Given the description of an element on the screen output the (x, y) to click on. 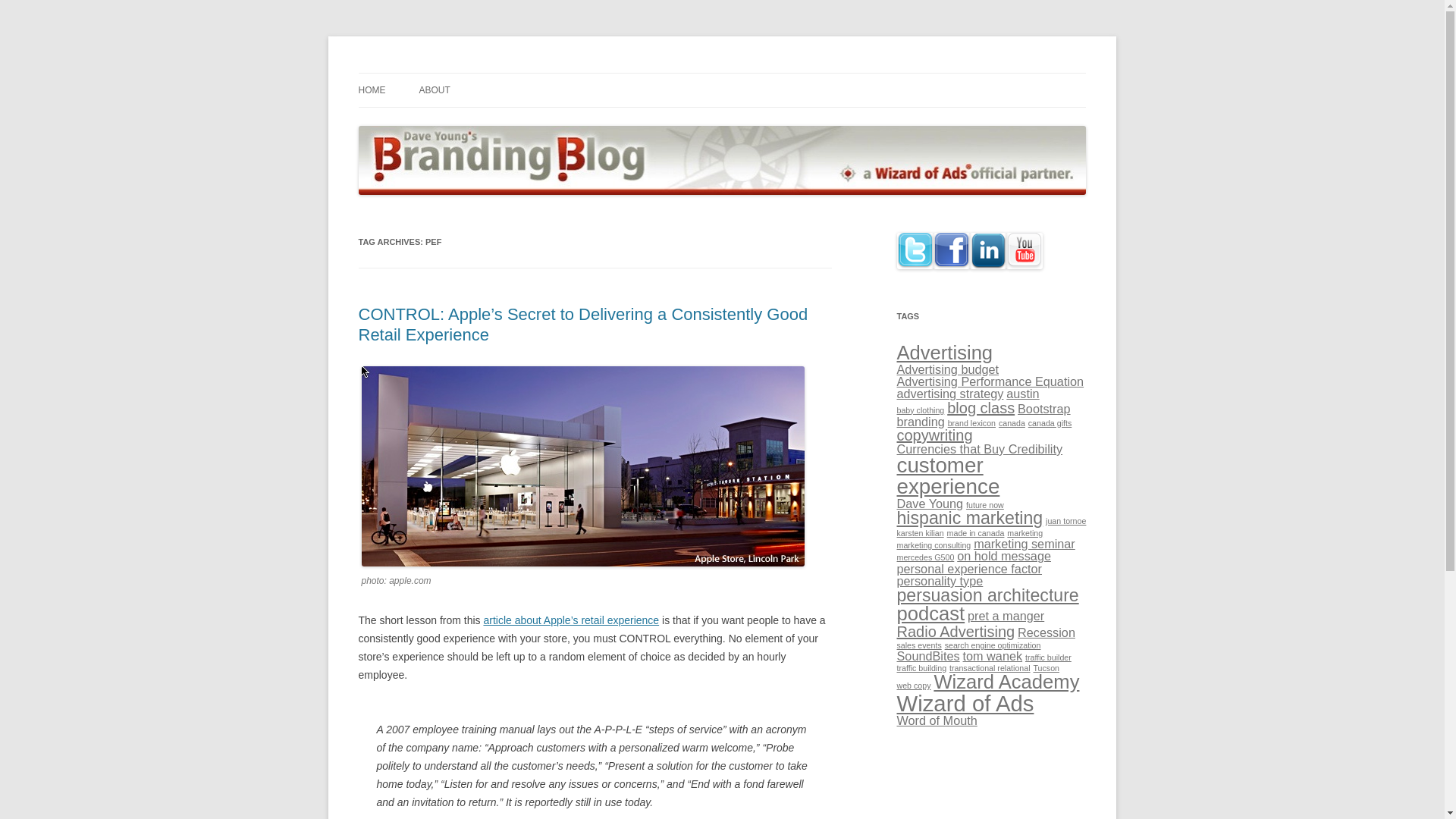
ABOUT (434, 90)
Currencies that Buy Credibility (979, 448)
juan tornoe (1065, 520)
Dave Young (929, 503)
future now (985, 504)
Advertising Performance Equation (989, 381)
apple (582, 466)
advertising strategy (949, 393)
made in canada (975, 532)
customer experience (947, 475)
BrandingBlog by Dave Young (495, 72)
brand lexicon (971, 422)
BrandingBlog by Dave Young (495, 72)
